Given the description of an element on the screen output the (x, y) to click on. 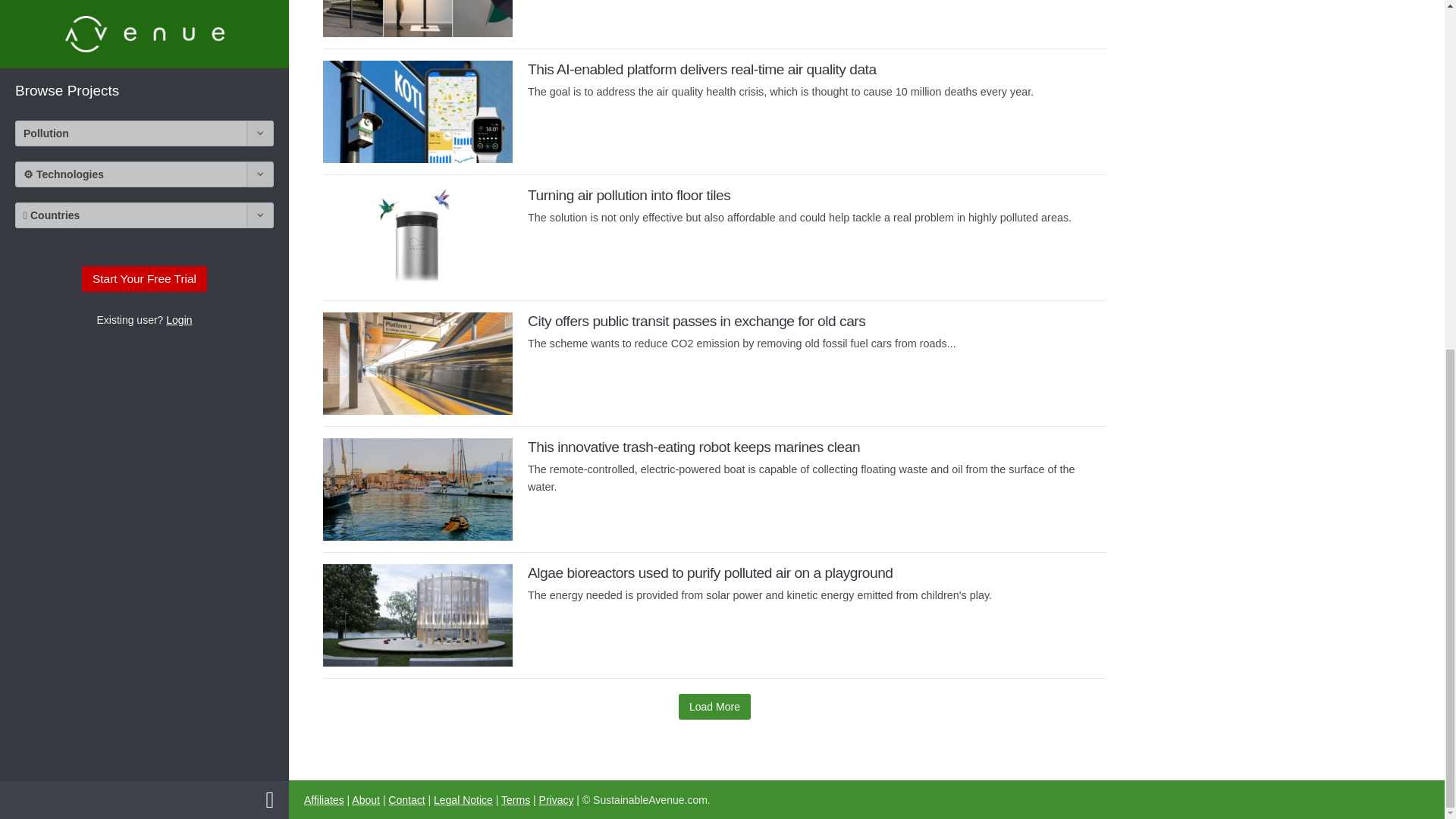
This AI-enabled platform delivers real-time air quality data (417, 111)
This innovative trash-eating robot keeps marines clean (693, 446)
City offers public transit passes in exchange for old cars (695, 320)
Turning air pollution into floor tiles (628, 195)
Turning air pollution into floor tiles (628, 195)
City offers public transit passes in exchange for old cars (417, 363)
This AI-enabled platform delivers real-time air quality data (701, 68)
This AI-enabled platform delivers real-time air quality data (701, 68)
Turning air pollution into floor tiles (417, 237)
